Given the description of an element on the screen output the (x, y) to click on. 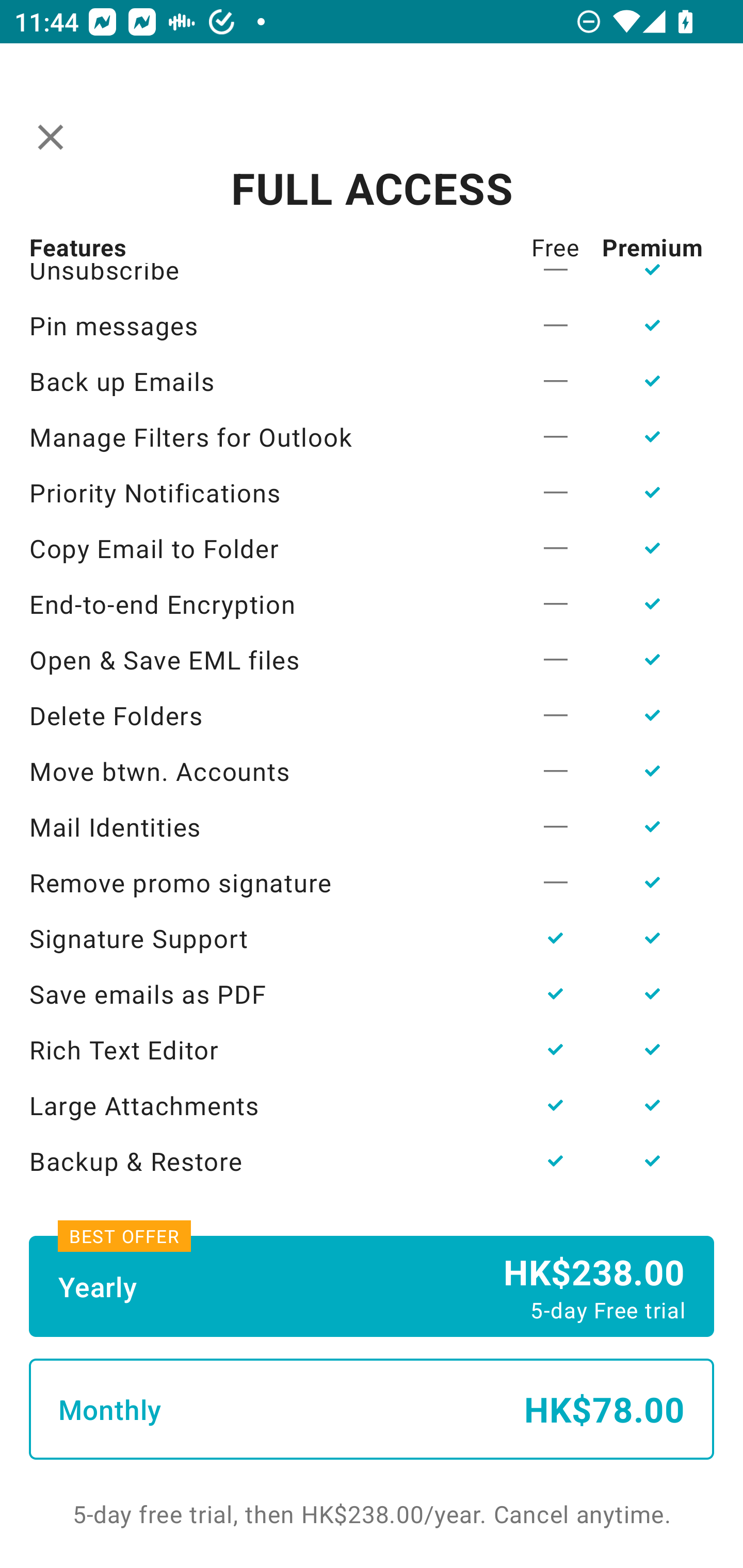
Yearly HK$238.00 5-day Free trial (371, 1286)
Monthly HK$78.00 (371, 1408)
